Given the description of an element on the screen output the (x, y) to click on. 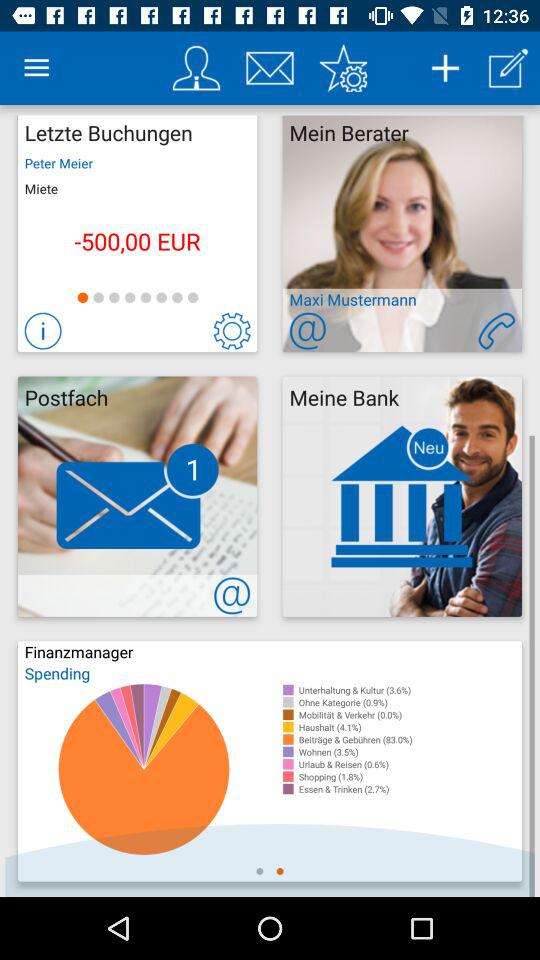
view your profile (196, 67)
